Given the description of an element on the screen output the (x, y) to click on. 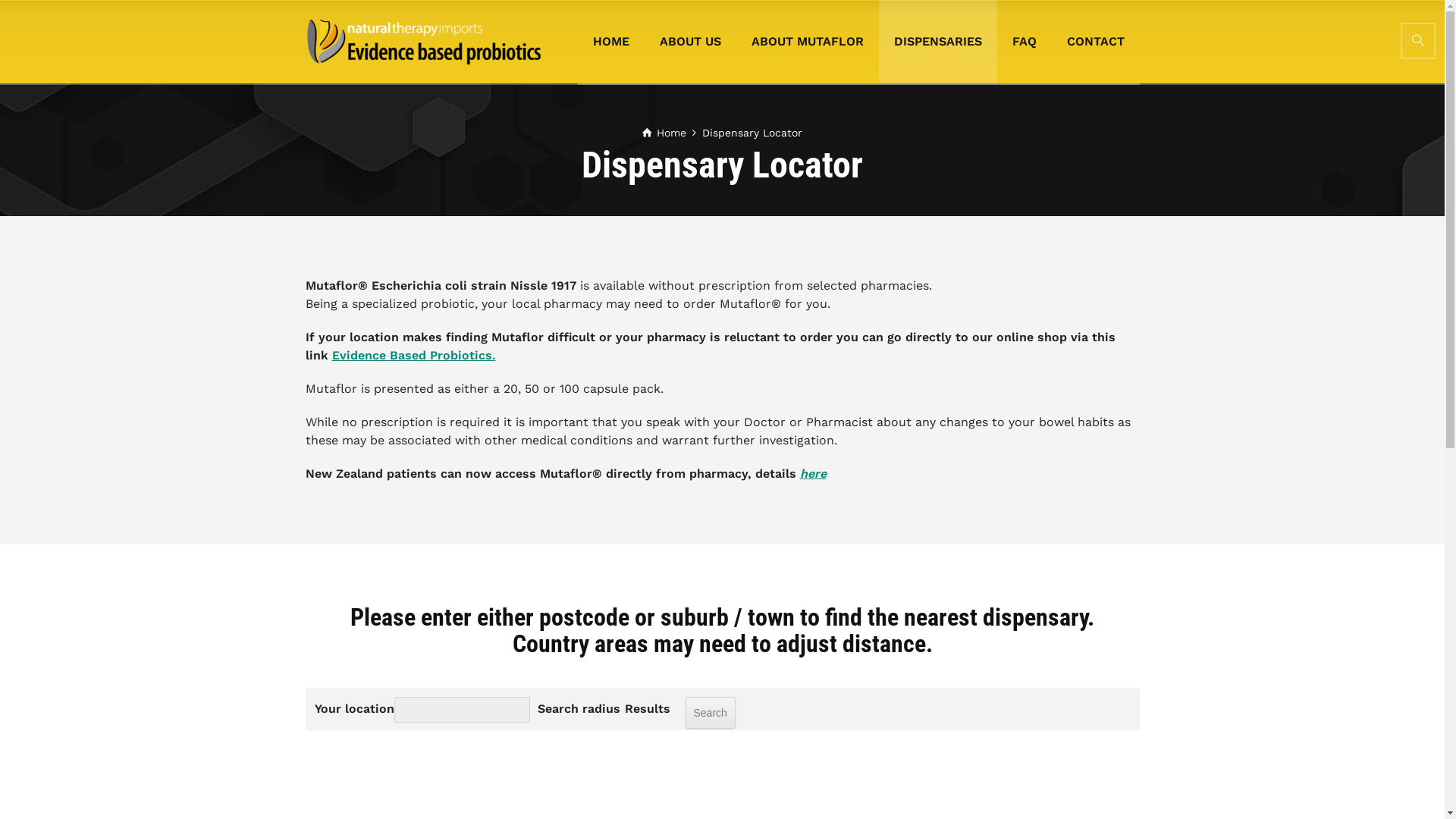
Mutaflor Australia Element type: hover (421, 41)
ABOUT US Element type: text (690, 41)
ABOUT MUTAFLOR Element type: text (806, 41)
FAQ Element type: text (1023, 41)
Search Element type: hover (1418, 40)
here Element type: text (812, 473)
HOME Element type: text (610, 41)
Home Element type: text (664, 132)
Search Element type: text (710, 712)
CONTACT Element type: text (1095, 41)
DISPENSARIES Element type: text (937, 41)
Evidence Based Probiotics. Element type: text (413, 355)
